Given the description of an element on the screen output the (x, y) to click on. 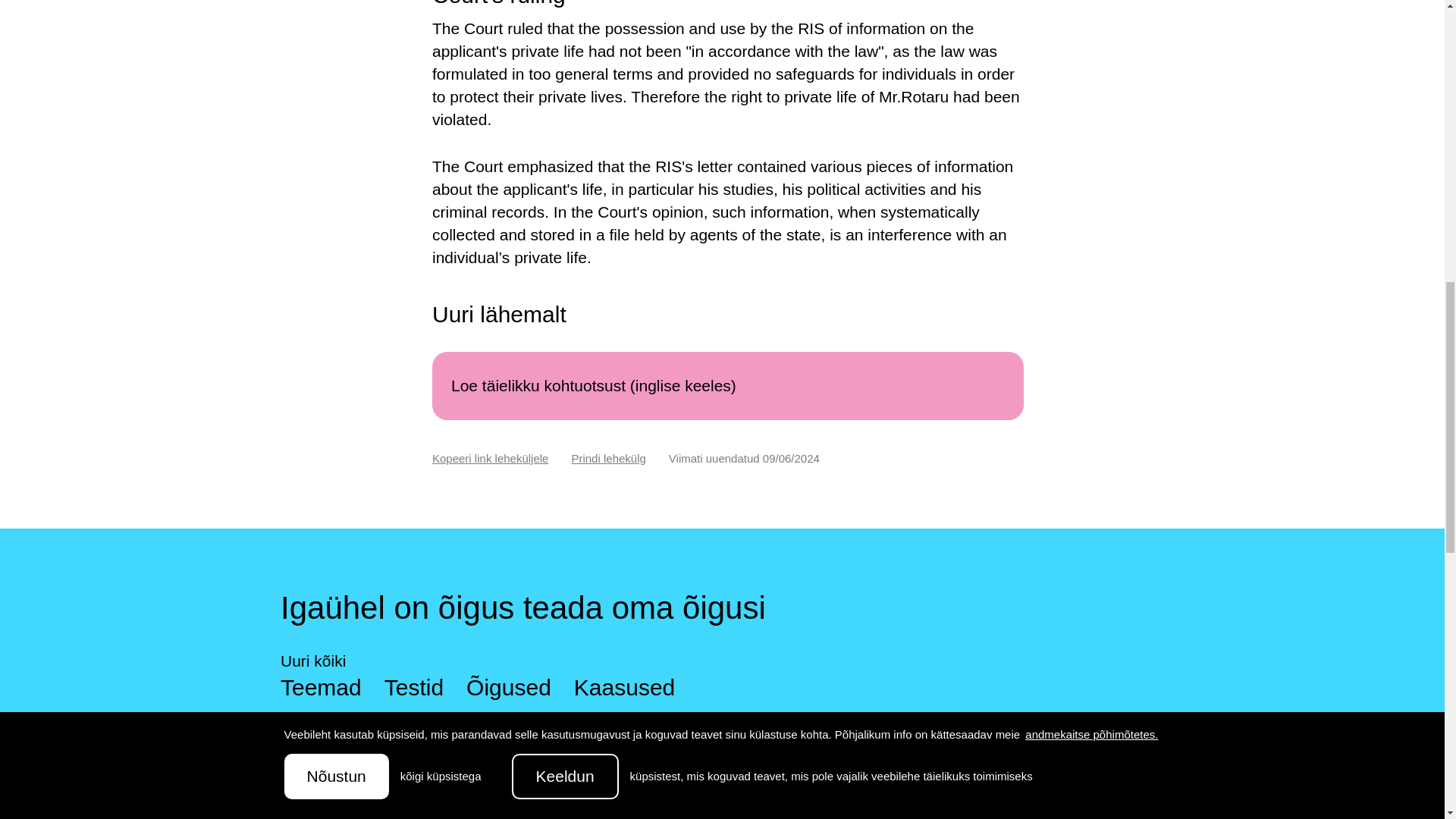
Testid (414, 687)
Kaasused (624, 687)
Teemad (321, 687)
